Given the description of an element on the screen output the (x, y) to click on. 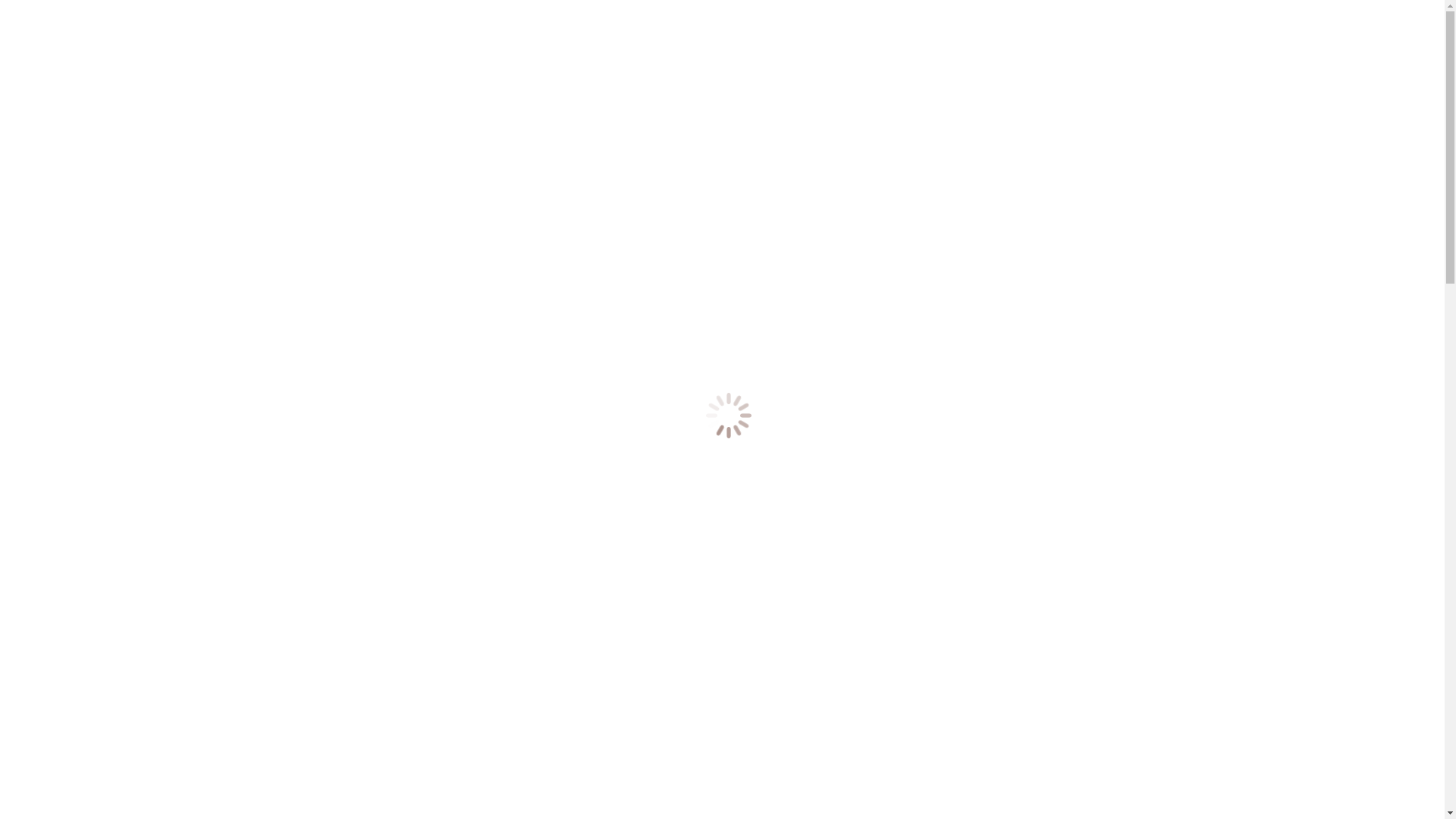
Meet Me Element type: text (58, 438)
Home Element type: text (50, 227)
Home Element type: text (50, 410)
Kurse Element type: text (50, 465)
Facebook page opens in new window Element type: text (459, 385)
Zeige Einkaufswagen Element type: text (58, 333)
 0 Element type: text (10, 307)
Instagram page opens in new window Element type: text (276, 385)
Los! Element type: text (21, 57)
Suche Element type: hover (73, 41)
Hand aufs Herz Element type: text (74, 268)
Hand aufs Herz Element type: text (74, 451)
Meet Me Element type: text (58, 254)
Kasse Element type: text (125, 333)
Zum Inhalt springen Element type: text (55, 12)
Kurse Element type: text (50, 282)
E-Mail page opens in new window Element type: text (636, 385)
Linkedin page opens in new window Element type: text (95, 385)
